Given the description of an element on the screen output the (x, y) to click on. 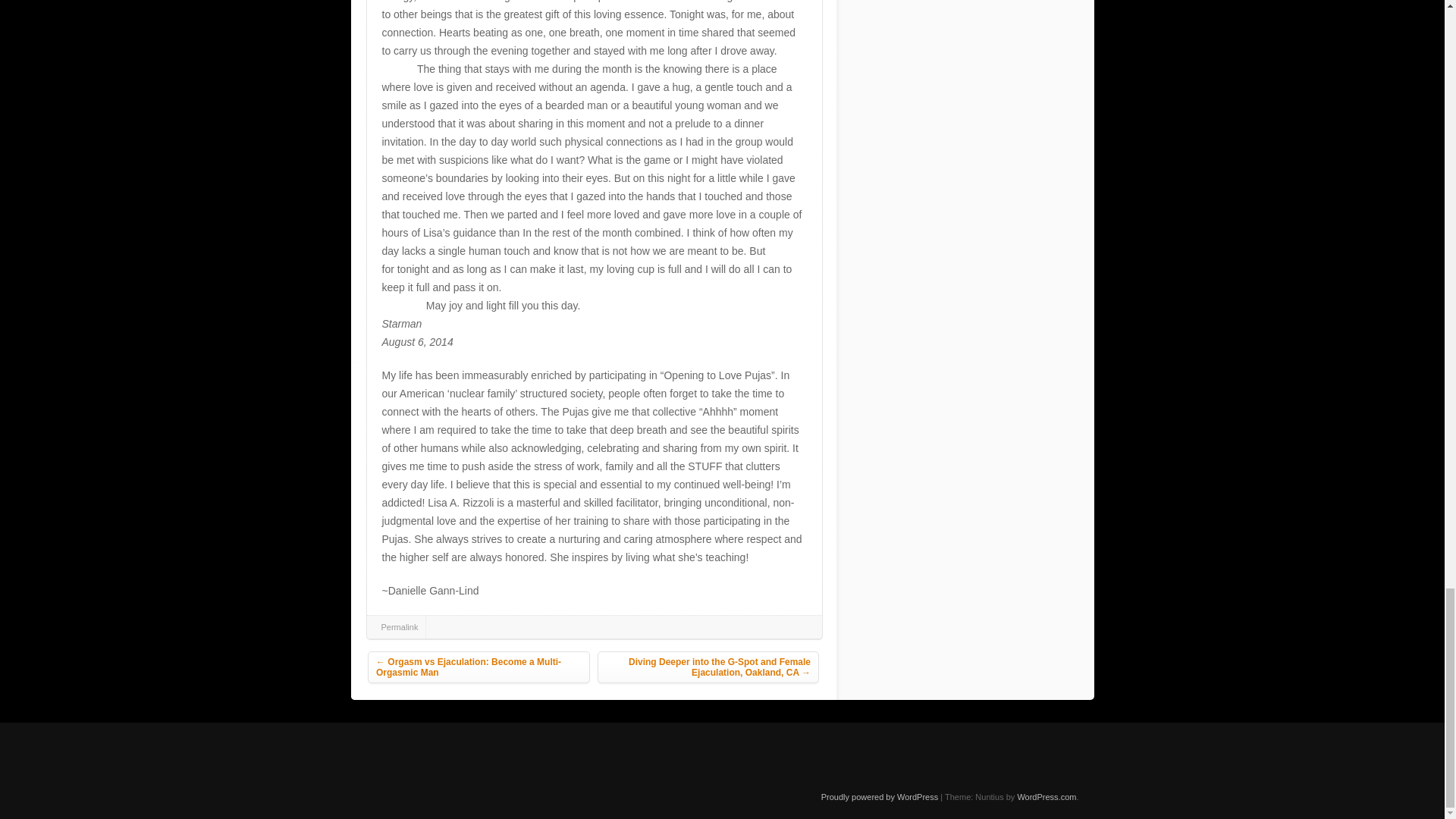
Permalink to Chakra Balancing Puja (398, 626)
Permalink (398, 626)
